Given the description of an element on the screen output the (x, y) to click on. 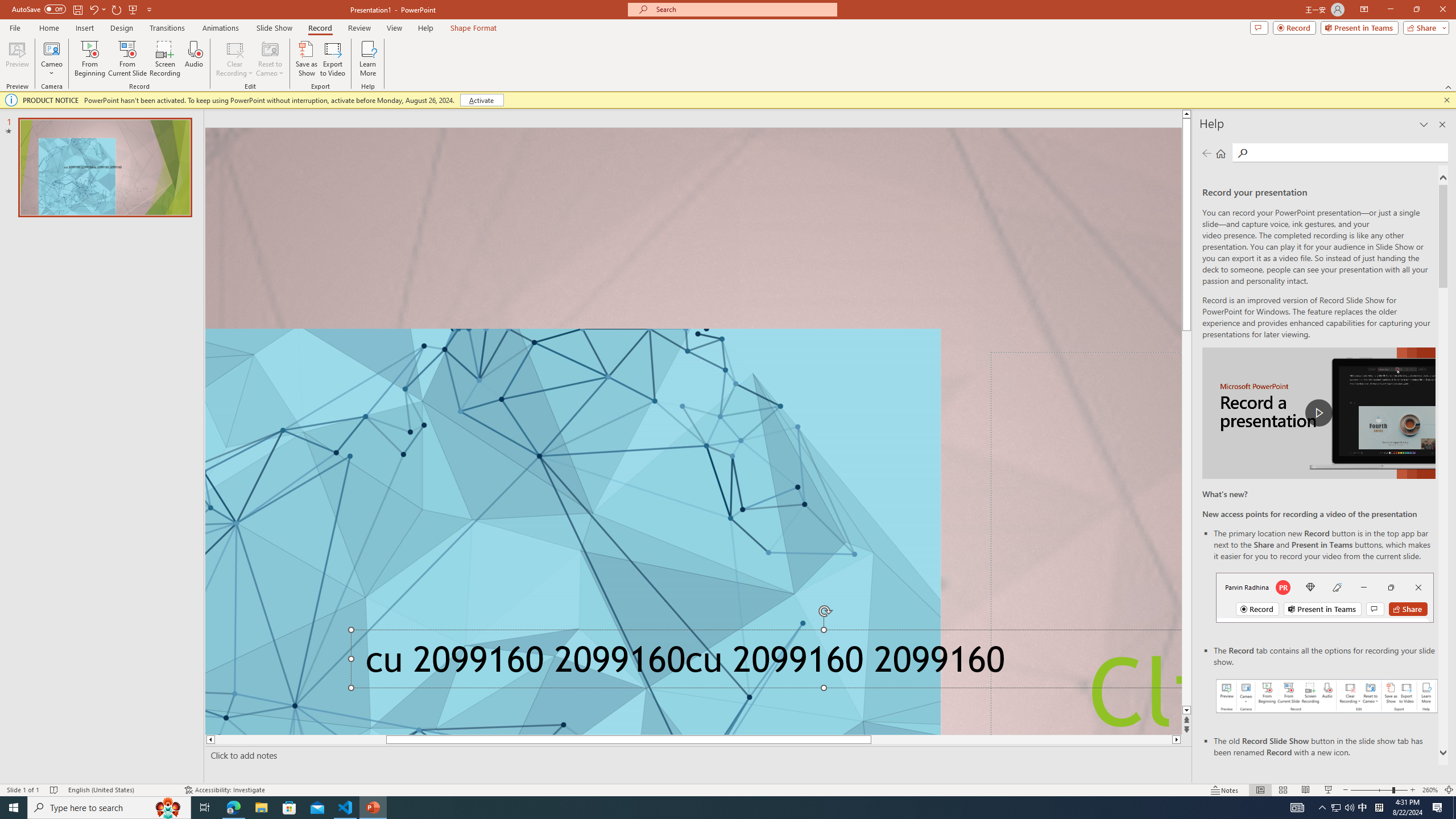
Cameo (51, 48)
Screen Recording (165, 58)
Page up (1186, 209)
Search (1347, 151)
Search (1241, 152)
Save as Show (306, 58)
